Given the description of an element on the screen output the (x, y) to click on. 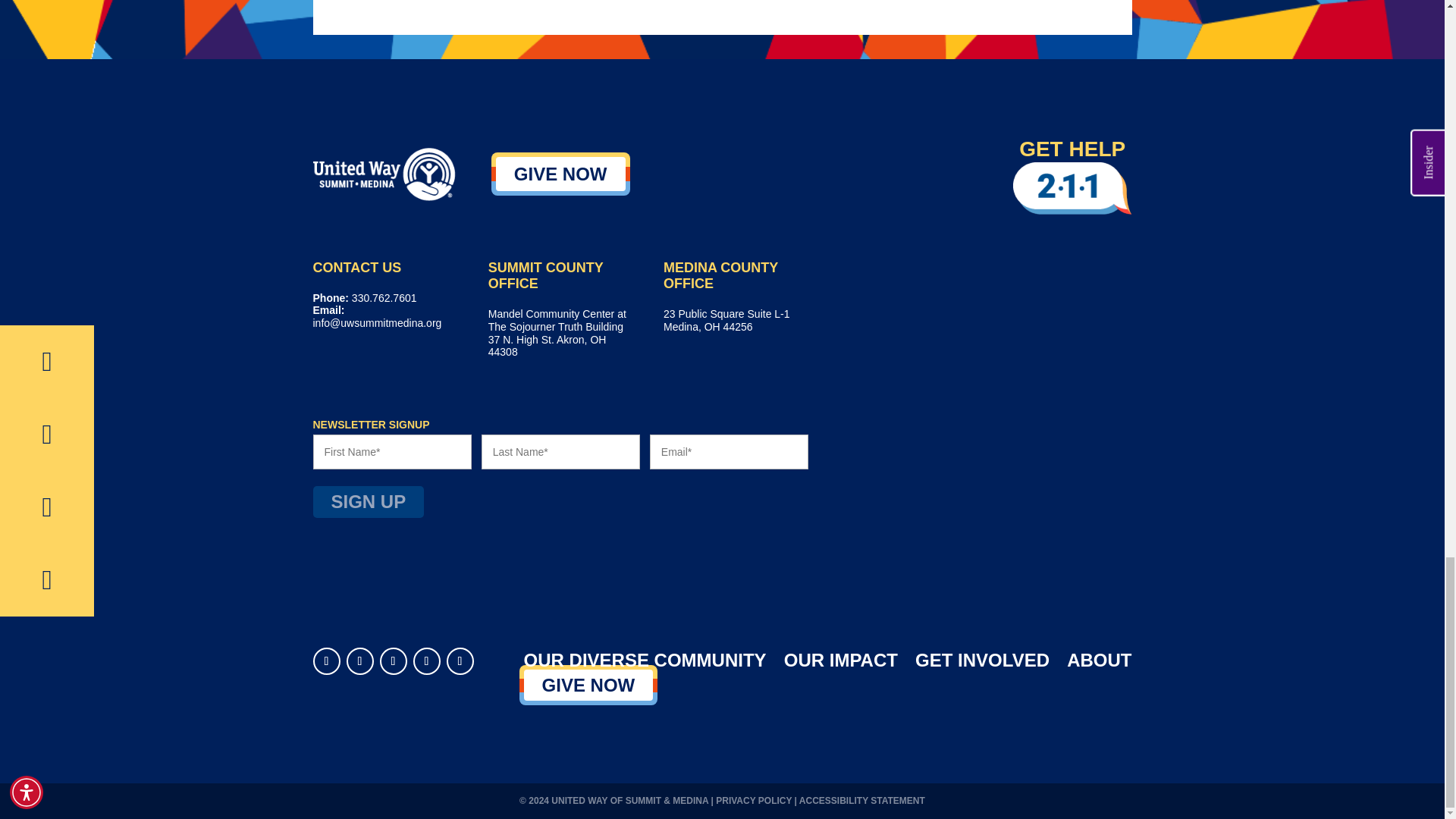
Follow on X (392, 660)
Follow on Instagram (459, 660)
Follow on Facebook (359, 660)
Sign Up (368, 501)
Follow on LinkedIn (326, 660)
logo-211 (1072, 188)
logo-white (385, 173)
Follow on Youtube (425, 660)
